Given the description of an element on the screen output the (x, y) to click on. 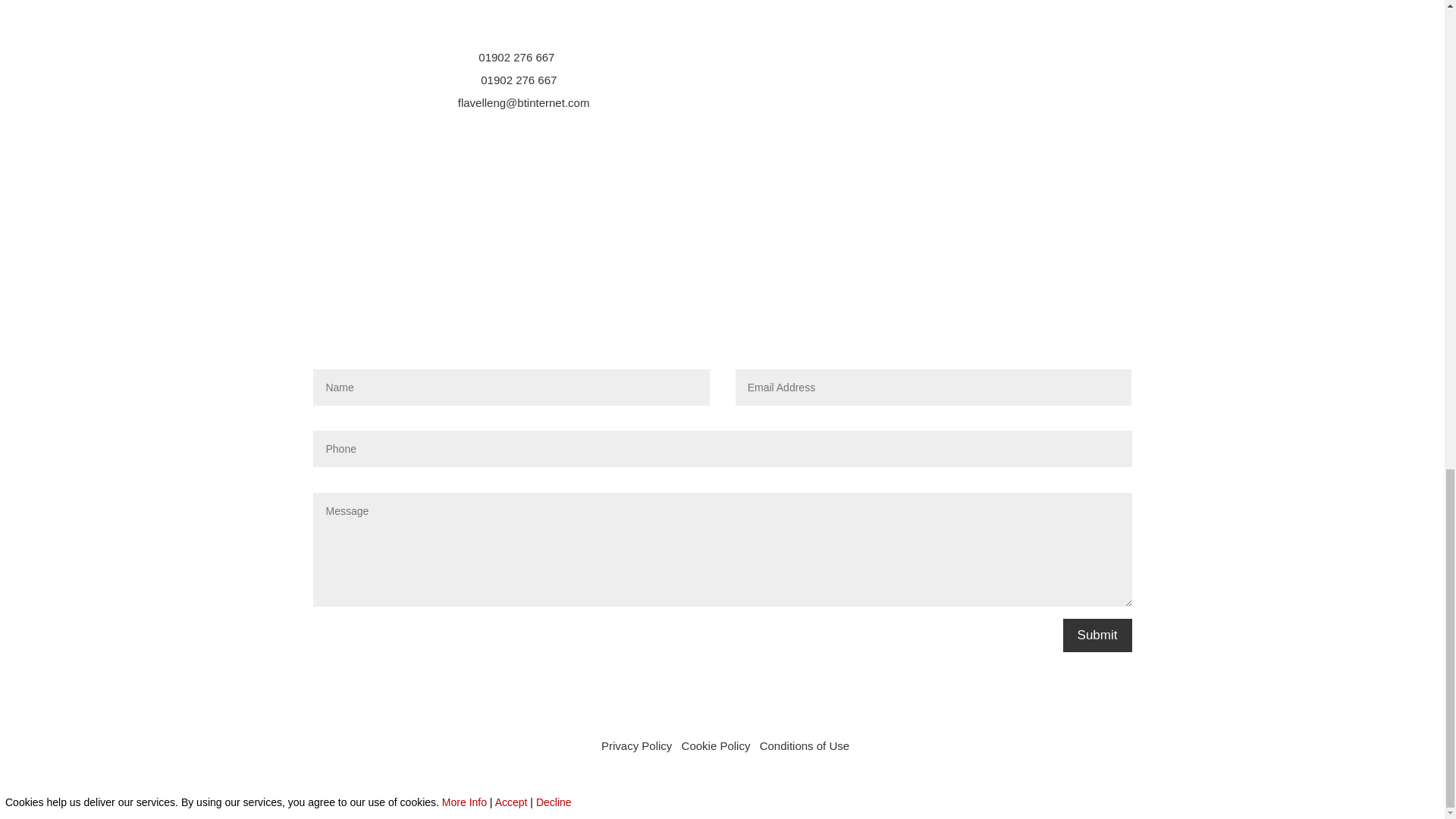
Conditions of Use (804, 745)
01902 276 667 (518, 79)
Cookie Policy (716, 745)
01902 276 667 (516, 56)
Submit (1097, 635)
Privacy Policy (636, 745)
